Given the description of an element on the screen output the (x, y) to click on. 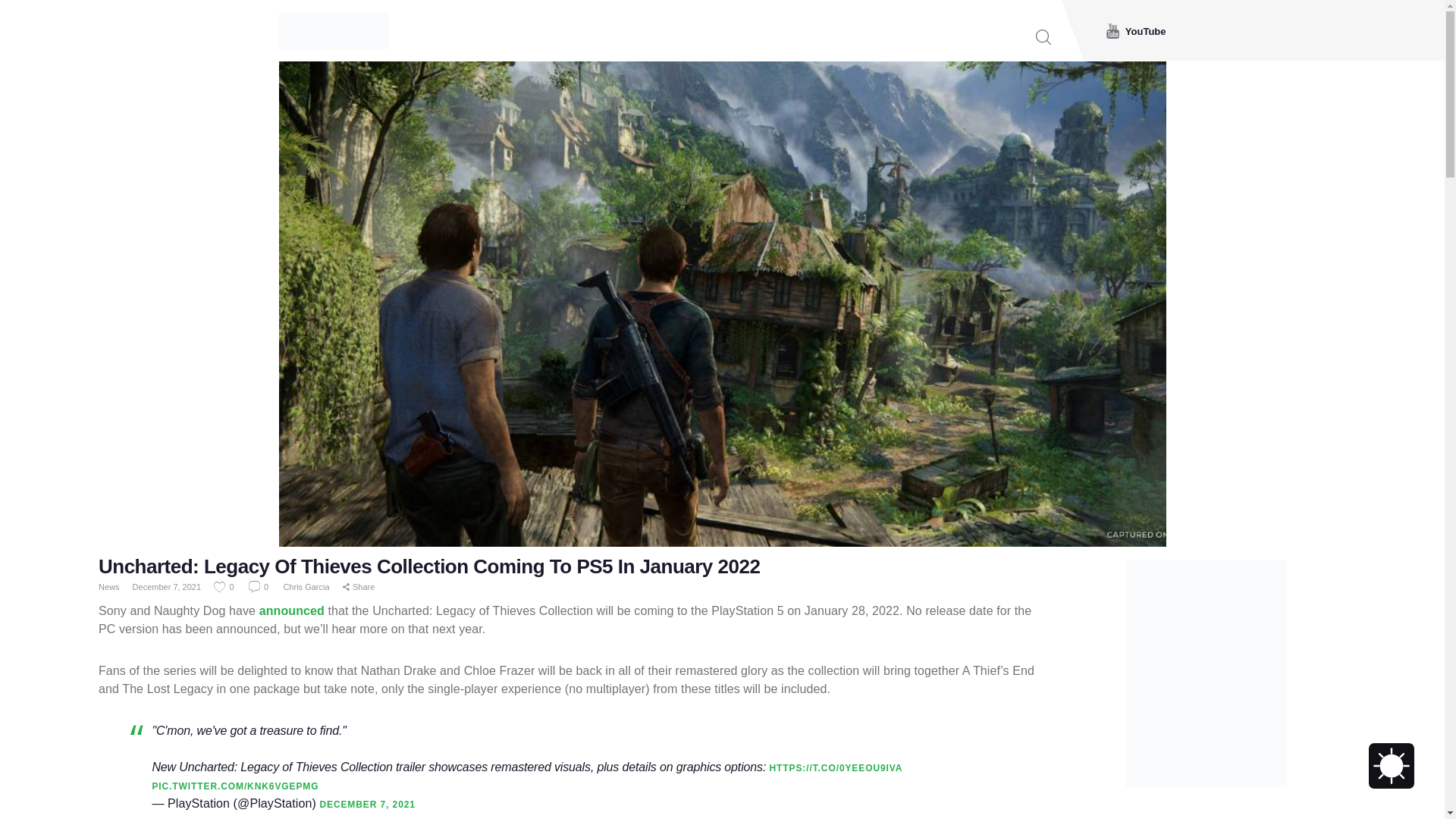
DECEMBER 7, 2021 (366, 804)
Chris Garcia (306, 586)
YouTube (1136, 30)
0 (224, 586)
Share (358, 587)
December 7, 2021 (167, 586)
Like (224, 586)
0 (259, 586)
announced (291, 610)
News (109, 586)
